Given the description of an element on the screen output the (x, y) to click on. 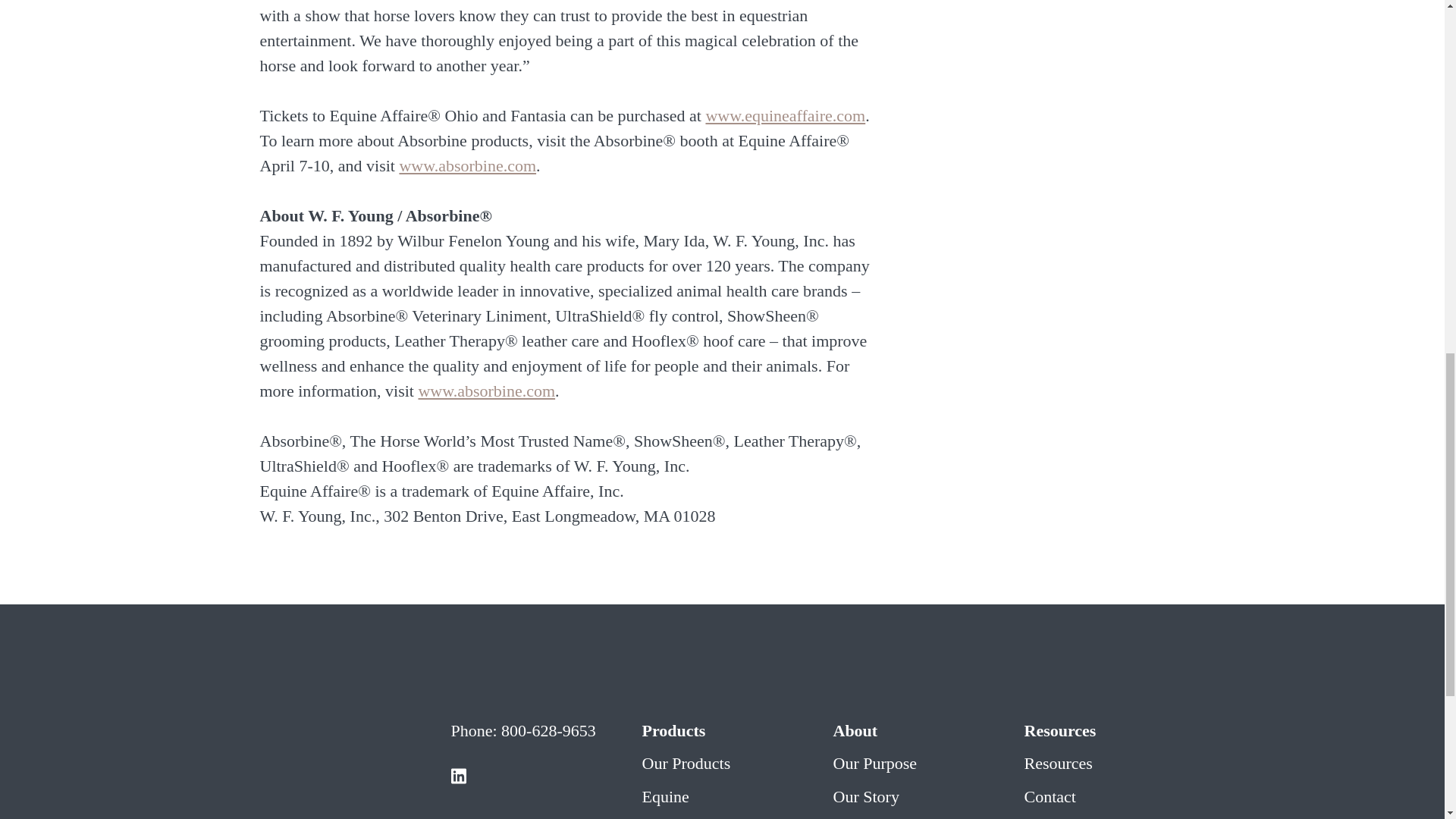
Our Story (865, 796)
www.absorbine.com (466, 165)
Our Products (686, 763)
Our Purpose (874, 763)
Equine (665, 796)
www.absorbine.com (485, 390)
Contact (1049, 796)
www.equineaffaire.com (784, 115)
Resources (1057, 763)
